Given the description of an element on the screen output the (x, y) to click on. 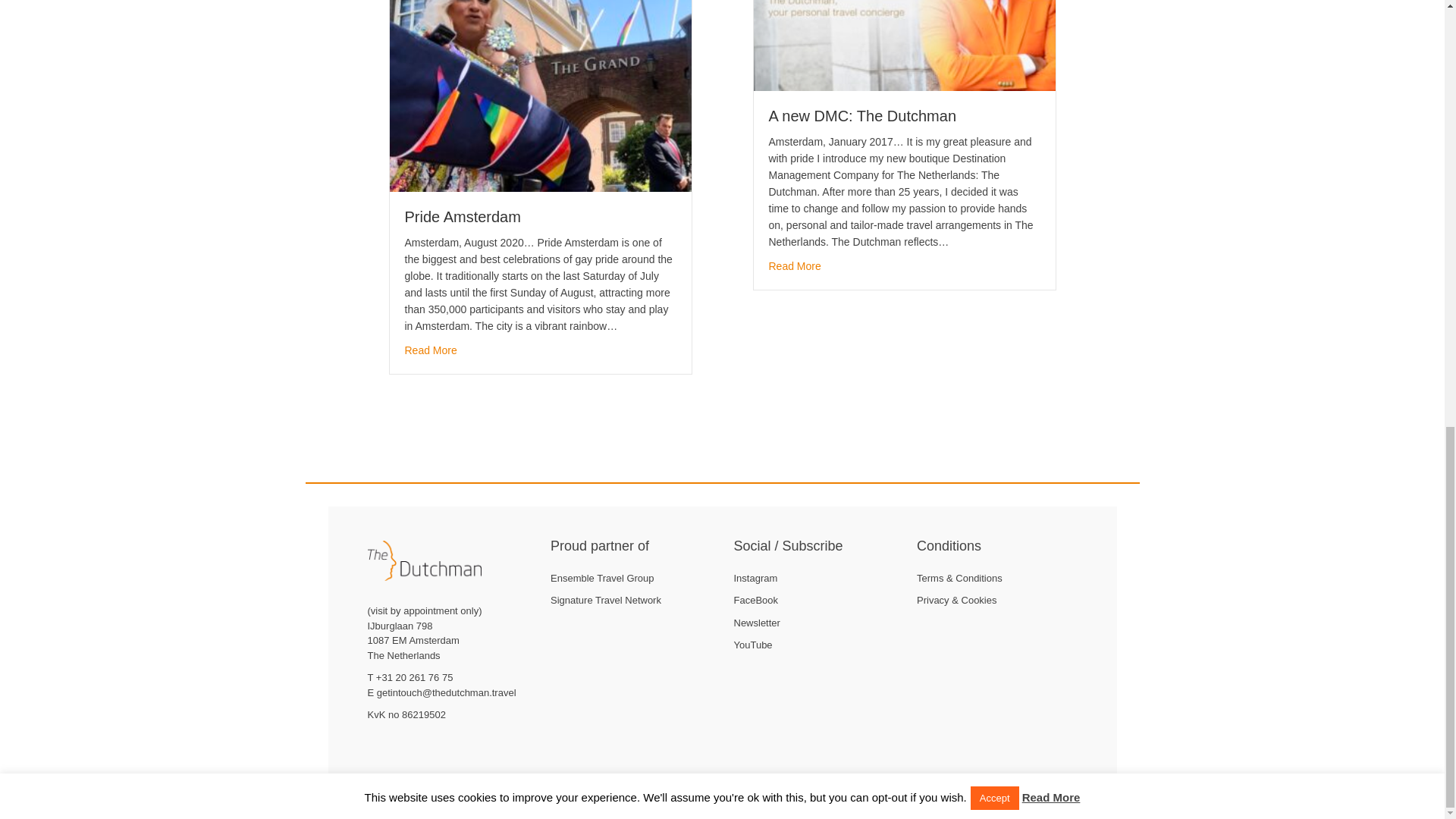
Pride Amsterdam (462, 216)
A new DMC: The Dutchman (862, 115)
A new DMC: The Dutchman (794, 265)
Pride Amsterdam (462, 216)
Pride Amsterdam (540, 77)
Read More (794, 265)
A new DMC: The Dutchman (862, 115)
Pride Amsterdam (430, 350)
